Given the description of an element on the screen output the (x, y) to click on. 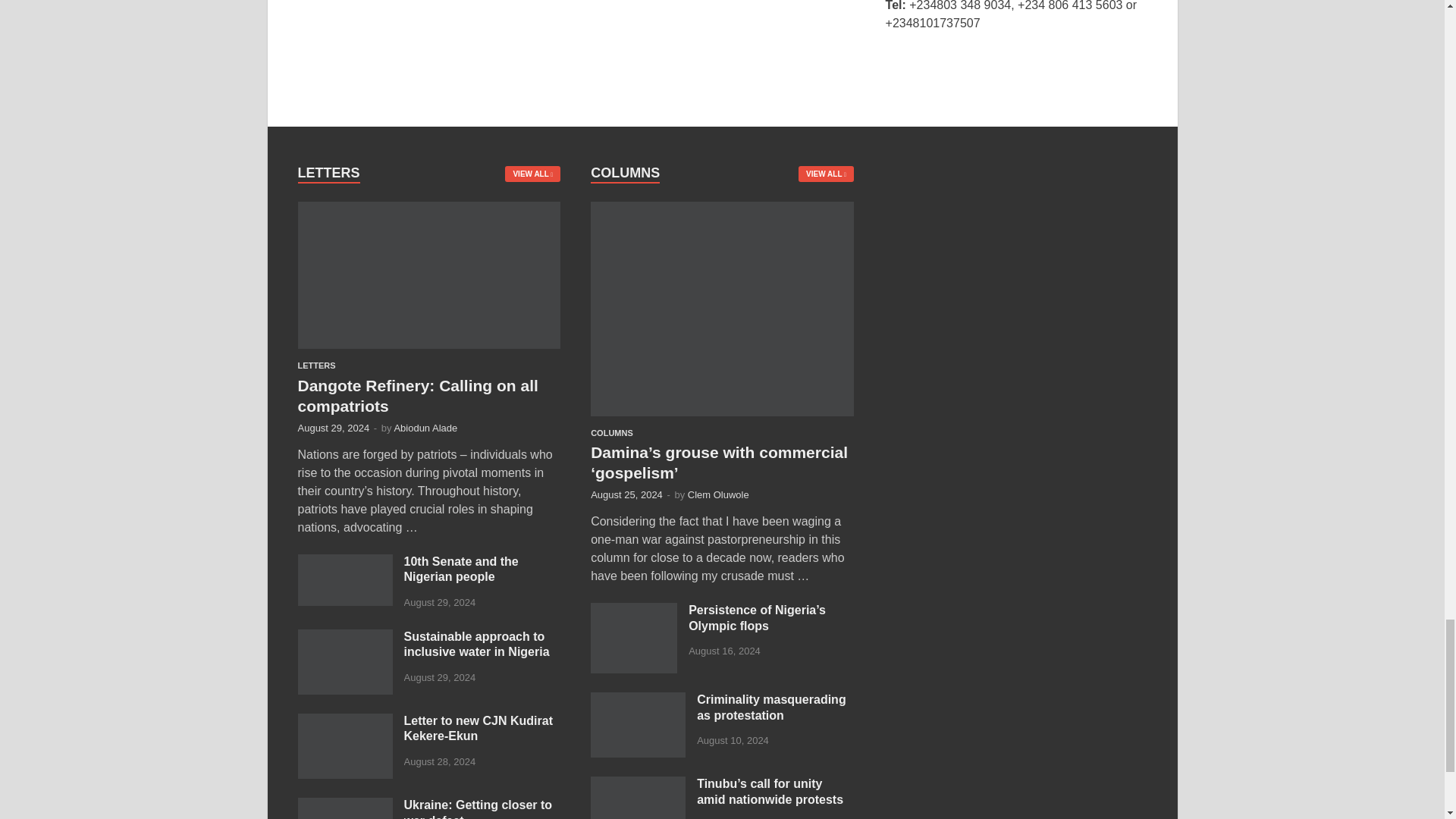
10th Senate and the Nigerian people (344, 562)
Sustainable approach to inclusive water in Nigeria (344, 637)
Ukraine: Getting closer to war defeat (344, 806)
Dangote Refinery: Calling on all compatriots (428, 210)
Letter to new CJN Kudirat Kekere-Ekun (344, 721)
